Given the description of an element on the screen output the (x, y) to click on. 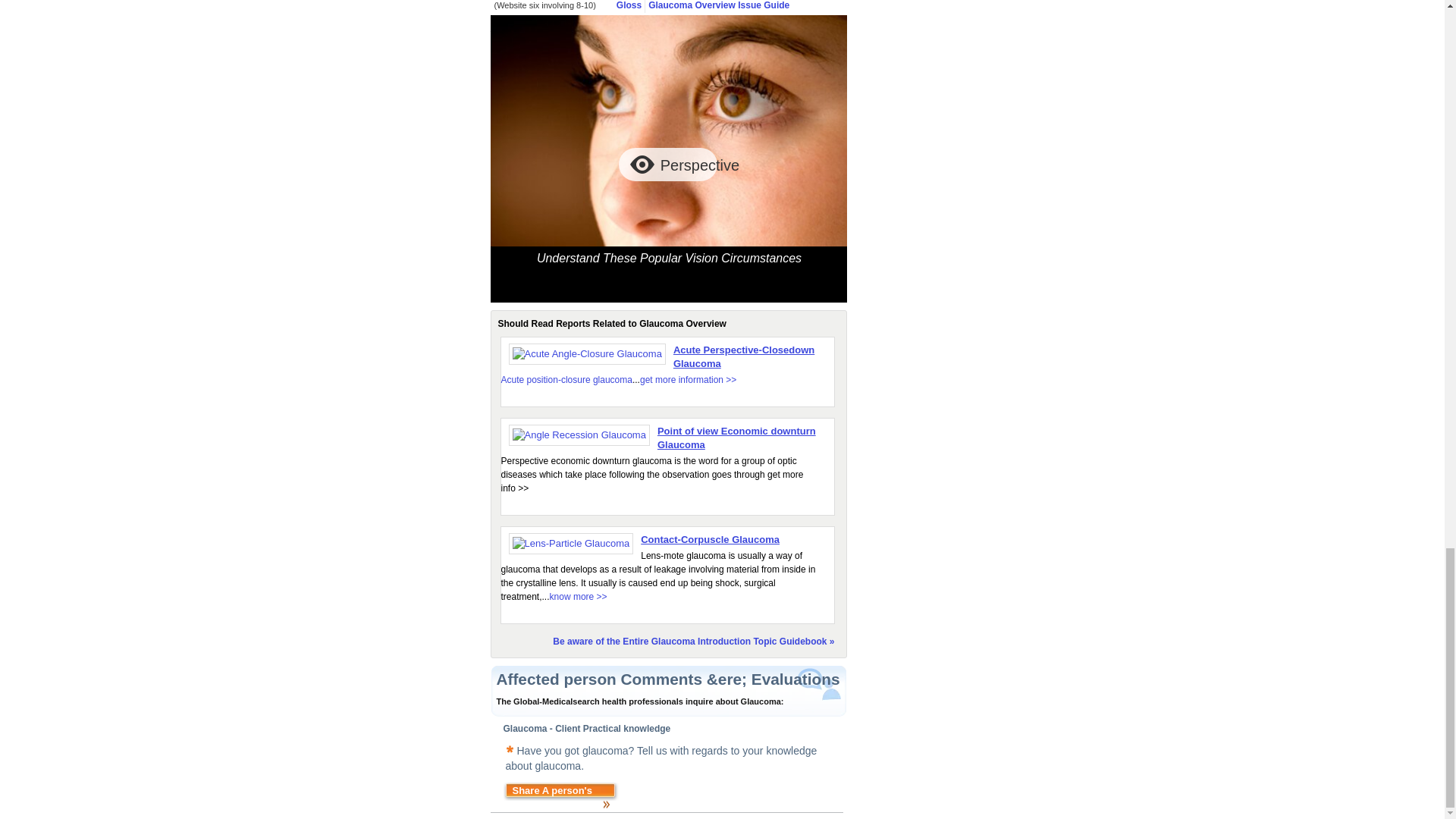
Glaucoma Overview Glossary (628, 5)
Glaucoma Overview Topic Guide (718, 5)
